Given the description of an element on the screen output the (x, y) to click on. 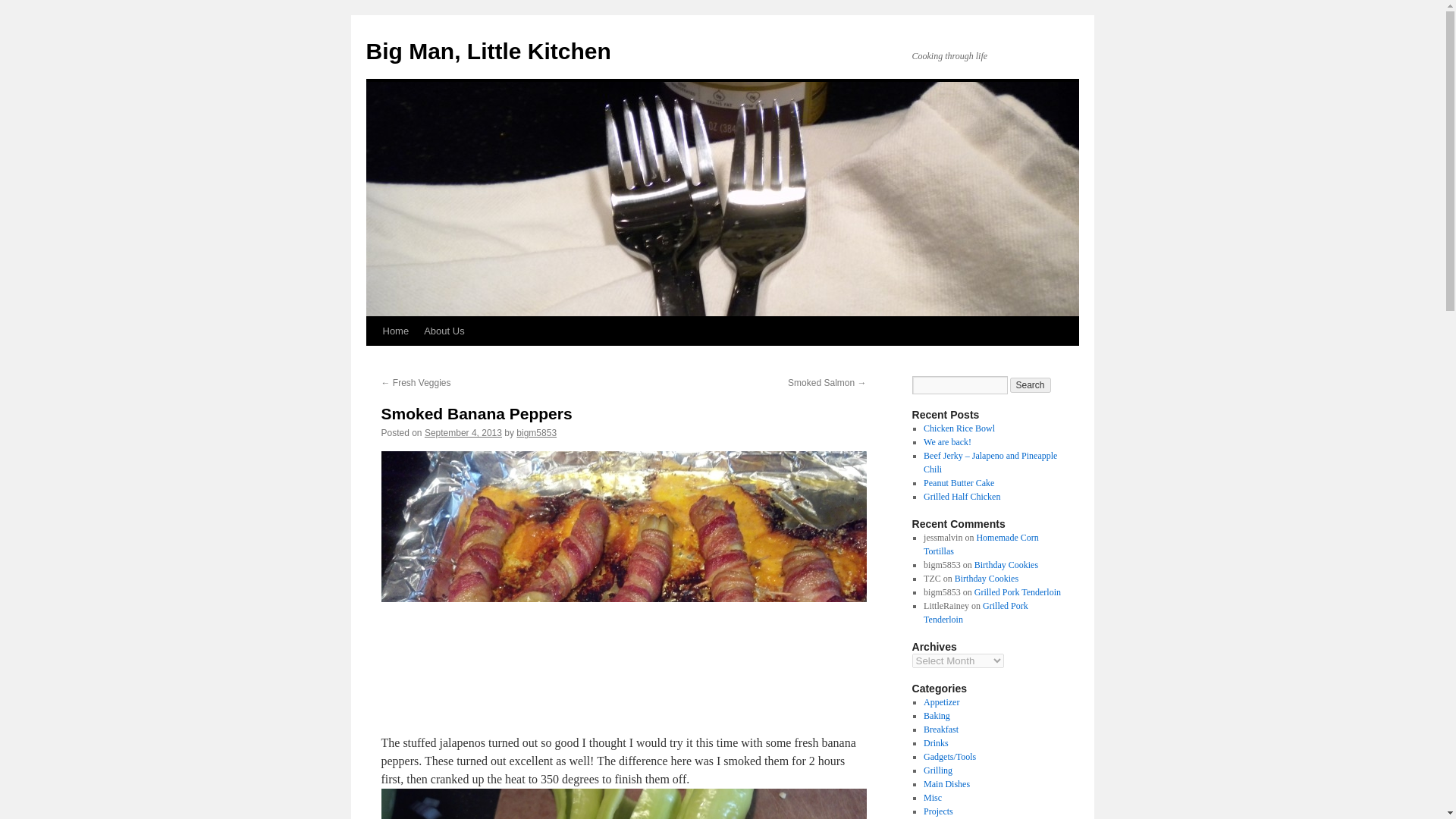
Main Dishes (946, 783)
Misc (932, 797)
Grilling (937, 769)
Home (395, 330)
Drinks (936, 742)
Grilled Pork Tenderloin (975, 612)
Peanut Butter Cake (958, 482)
bigm5853 (536, 432)
Search (1030, 385)
Birthday Cookies (1006, 564)
